Given the description of an element on the screen output the (x, y) to click on. 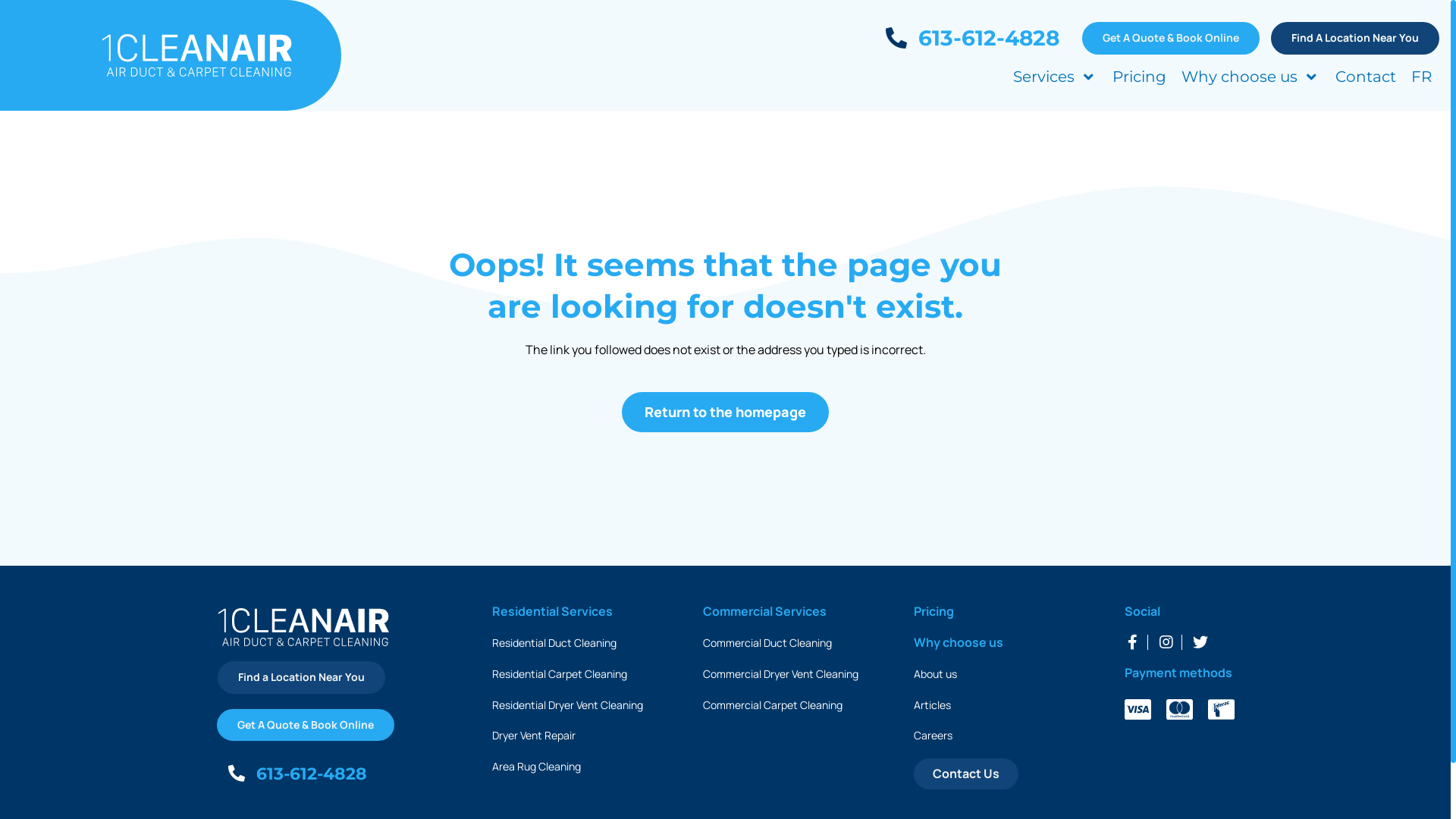
Commercial Carpet Cleaning Element type: text (772, 704)
Articles Element type: text (931, 704)
FR Element type: text (1421, 77)
Twitter Element type: text (1200, 642)
Find A Location Near You Element type: text (1354, 37)
613-612-4828 Element type: text (297, 774)
Residential Carpet Cleaning Element type: text (558, 673)
Commercial Duct Cleaning Element type: text (766, 642)
Get A Quote & Book Online Element type: text (305, 724)
613-612-4828 Element type: text (972, 37)
Pricing Element type: text (1138, 77)
Dryer Vent Repair Element type: text (532, 735)
Contact Us Element type: text (965, 773)
Residential Duct Cleaning Element type: text (553, 642)
Residential Dryer Vent Cleaning Element type: text (566, 704)
Commercial Dryer Vent Cleaning Element type: text (780, 673)
Residential Services Element type: text (551, 610)
Facebook-f Element type: text (1132, 642)
Get A Quote & Book Online Element type: text (1170, 37)
Services Element type: text (1054, 77)
Return to the homepage Element type: text (724, 412)
Area Rug Cleaning Element type: text (535, 766)
Pricing Element type: text (933, 610)
About us Element type: text (935, 673)
Why choose us Element type: text (1250, 77)
Instagram Element type: text (1166, 642)
Careers Element type: text (932, 735)
Find a Location Near You Element type: text (301, 677)
Commercial Services Element type: text (764, 610)
Contact Element type: text (1365, 77)
